Given the description of an element on the screen output the (x, y) to click on. 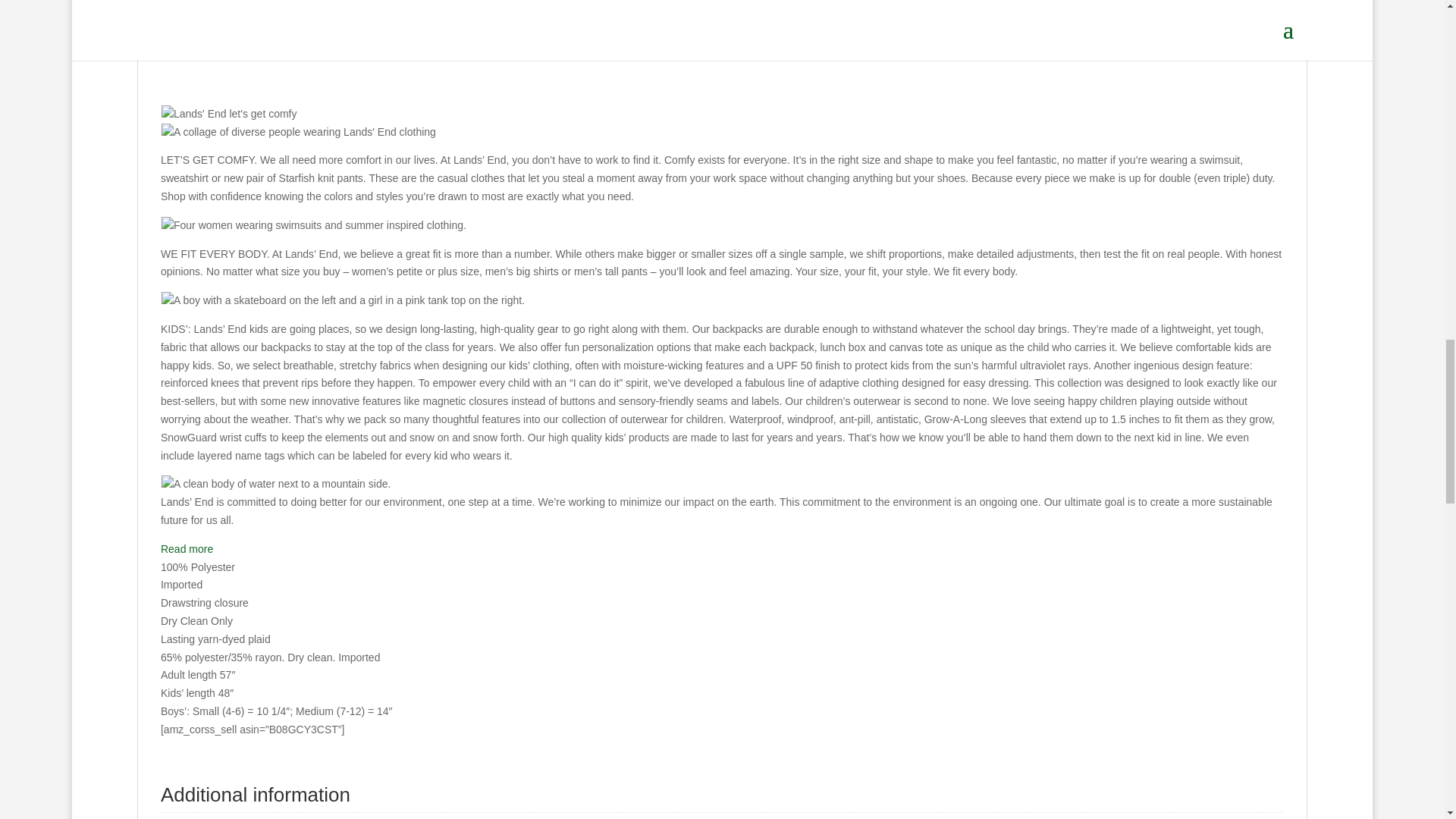
Lands-End-School-Uniform-Kids-Pre-Tied-Tie-0-0 (574, 22)
Read more (186, 548)
Lands-End-School-Uniform-Kids-Pre-Tied-Tie-0 (277, 22)
Lands-End-School-Uniform-Kids-Pre-Tied-Tie-0-1 (869, 22)
